Given the description of an element on the screen output the (x, y) to click on. 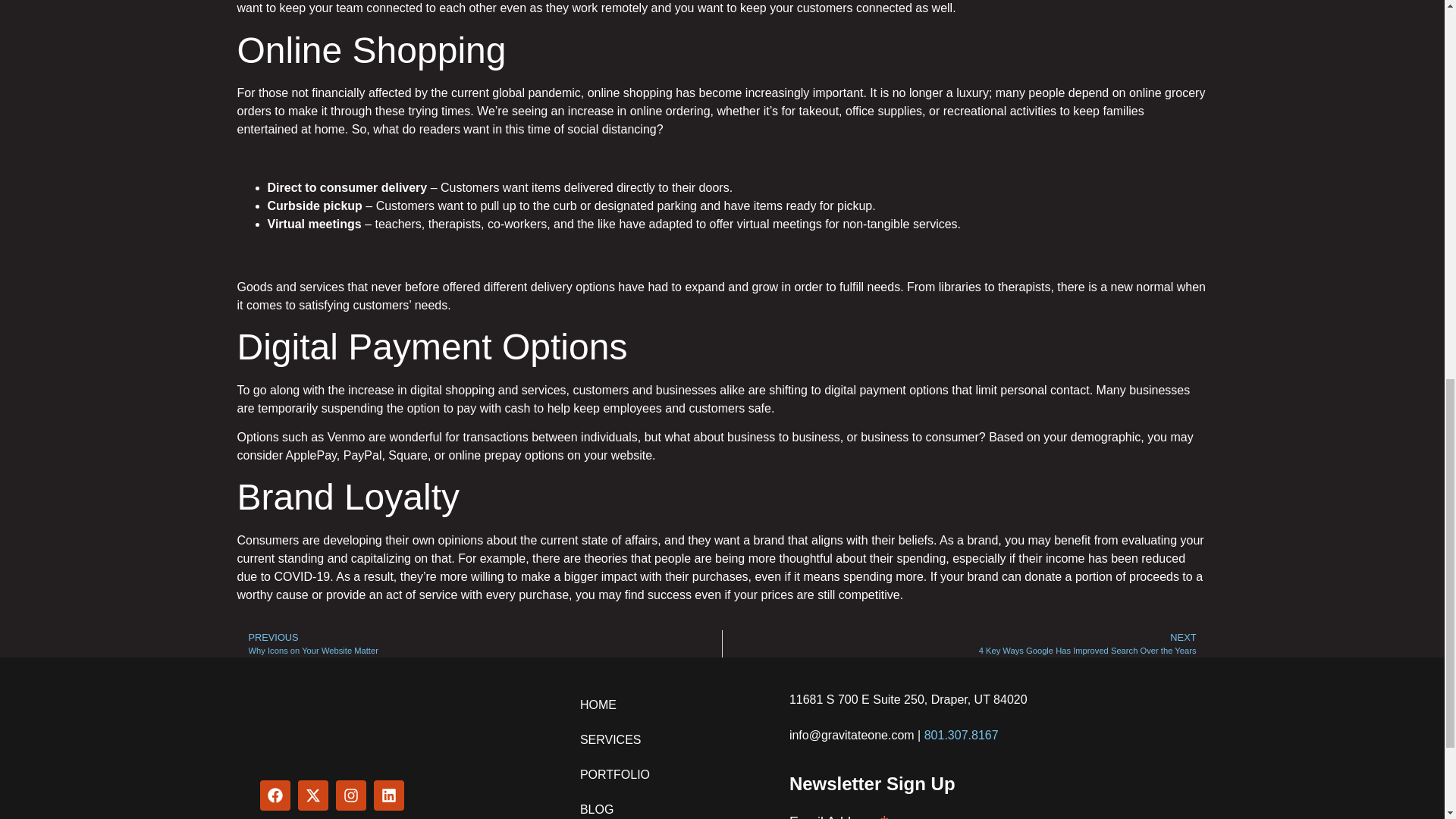
Homepage (965, 643)
